Given the description of an element on the screen output the (x, y) to click on. 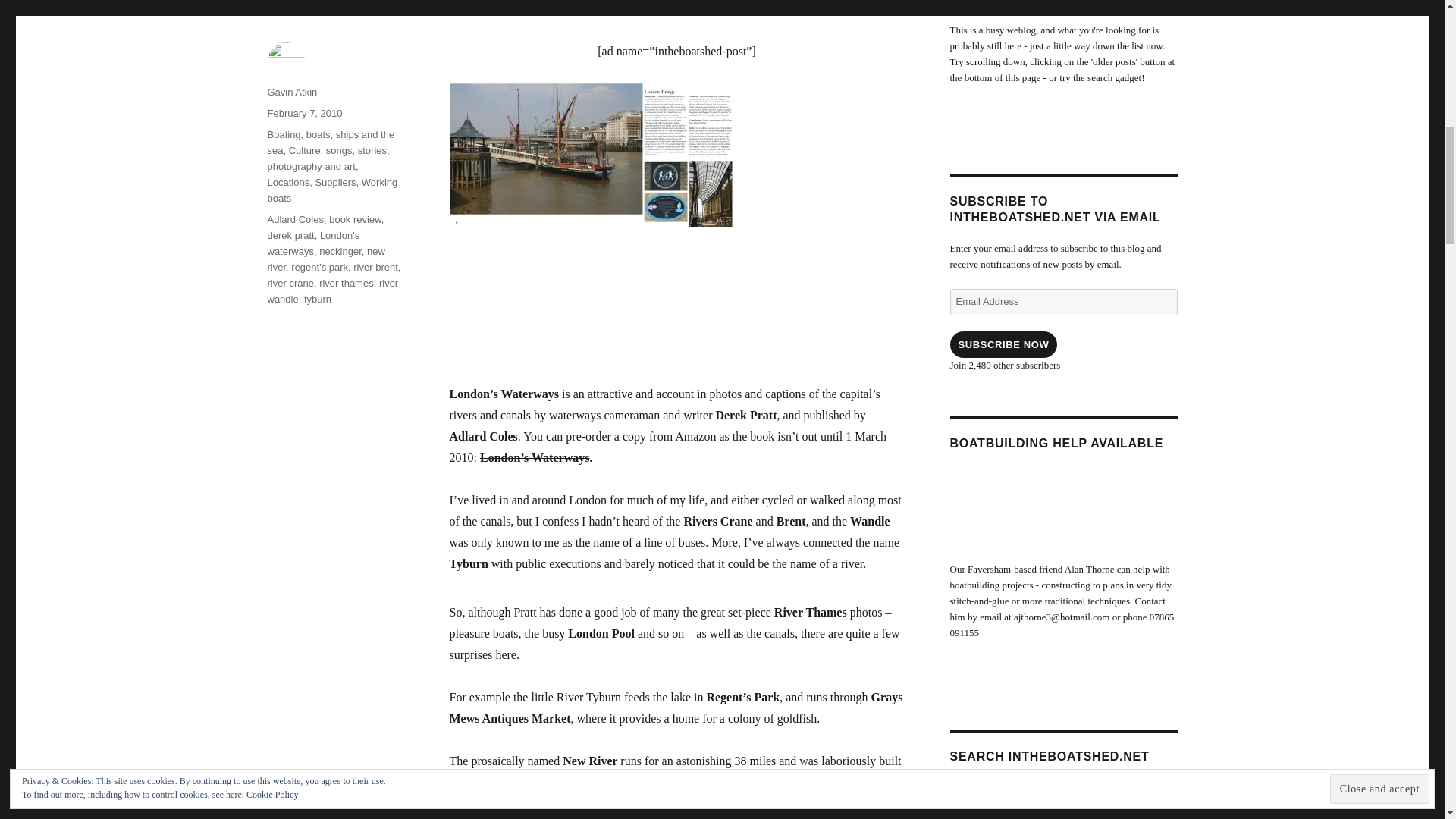
regent's park (319, 266)
London's waterways (312, 243)
P26-27 (505, 333)
February 7, 2010 (304, 112)
new river (325, 258)
Suppliers (334, 182)
Locations (287, 182)
Working boats (331, 189)
Culture: songs, stories, photography and art (327, 157)
neckinger (339, 251)
Adlard Coles (294, 219)
P72-73 (505, 276)
river brent (375, 266)
P52-53 (592, 155)
river crane (289, 283)
